Given the description of an element on the screen output the (x, y) to click on. 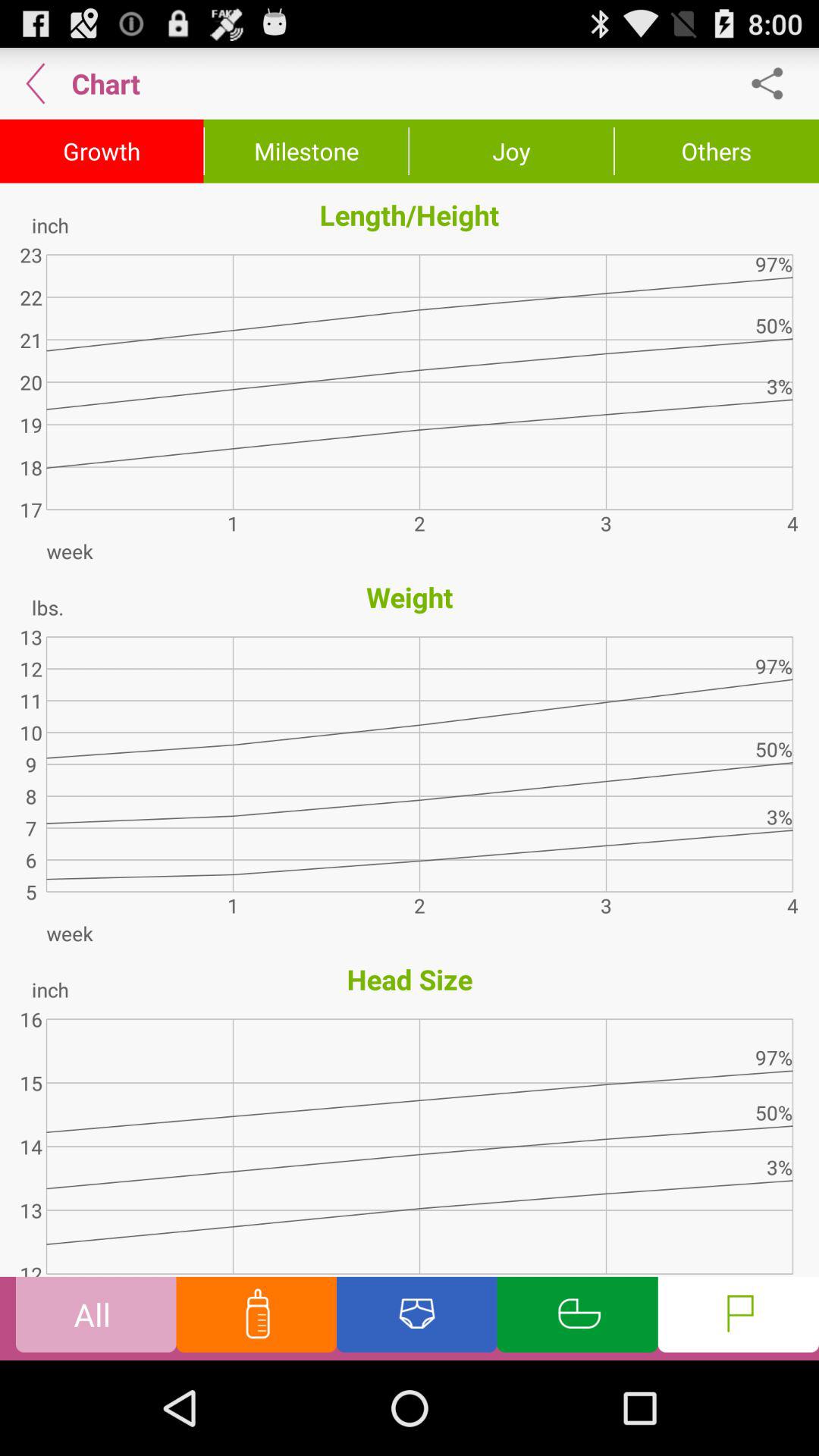
show graph (577, 1318)
